Given the description of an element on the screen output the (x, y) to click on. 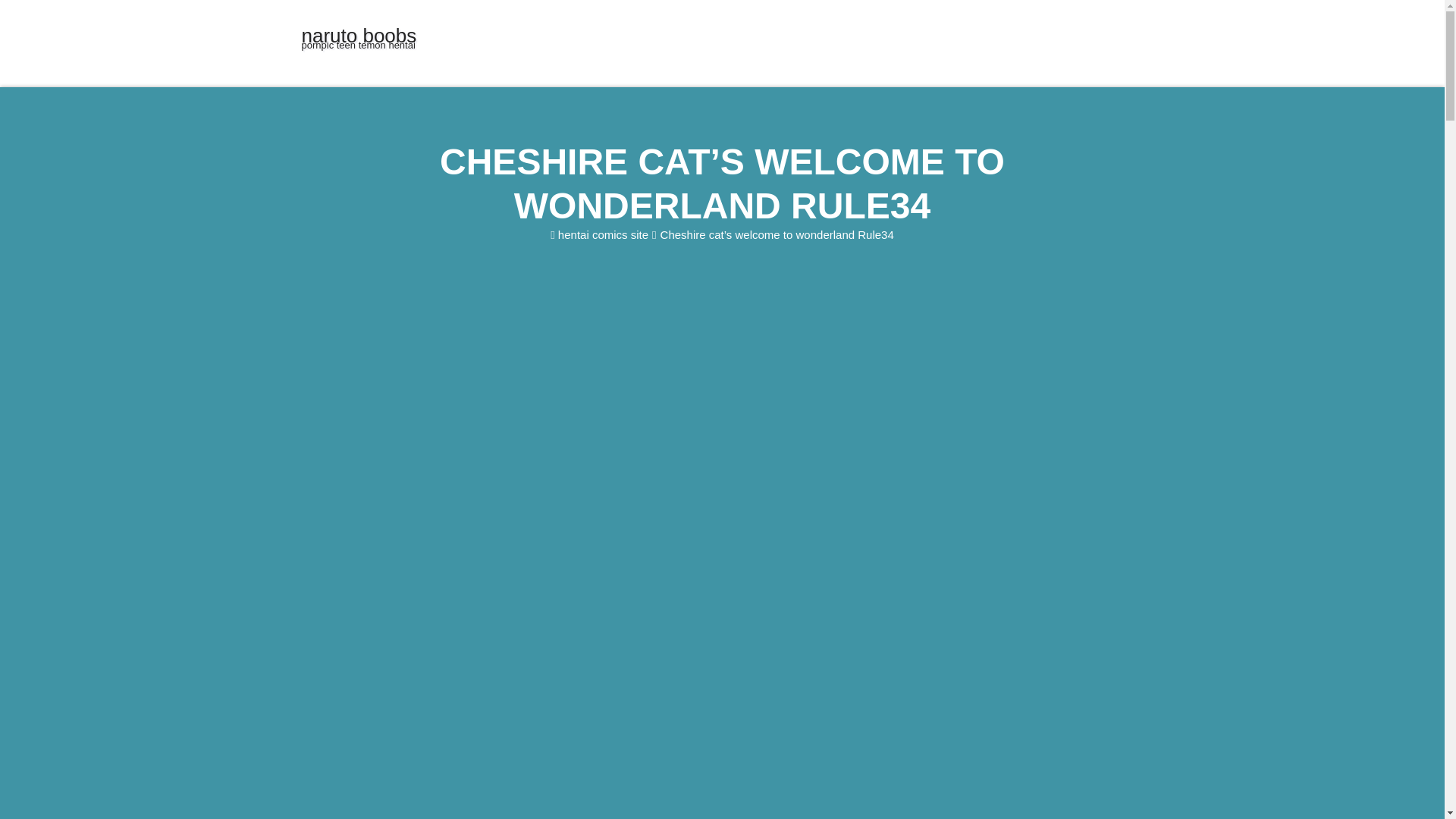
hentai comics site (358, 35)
